Given the description of an element on the screen output the (x, y) to click on. 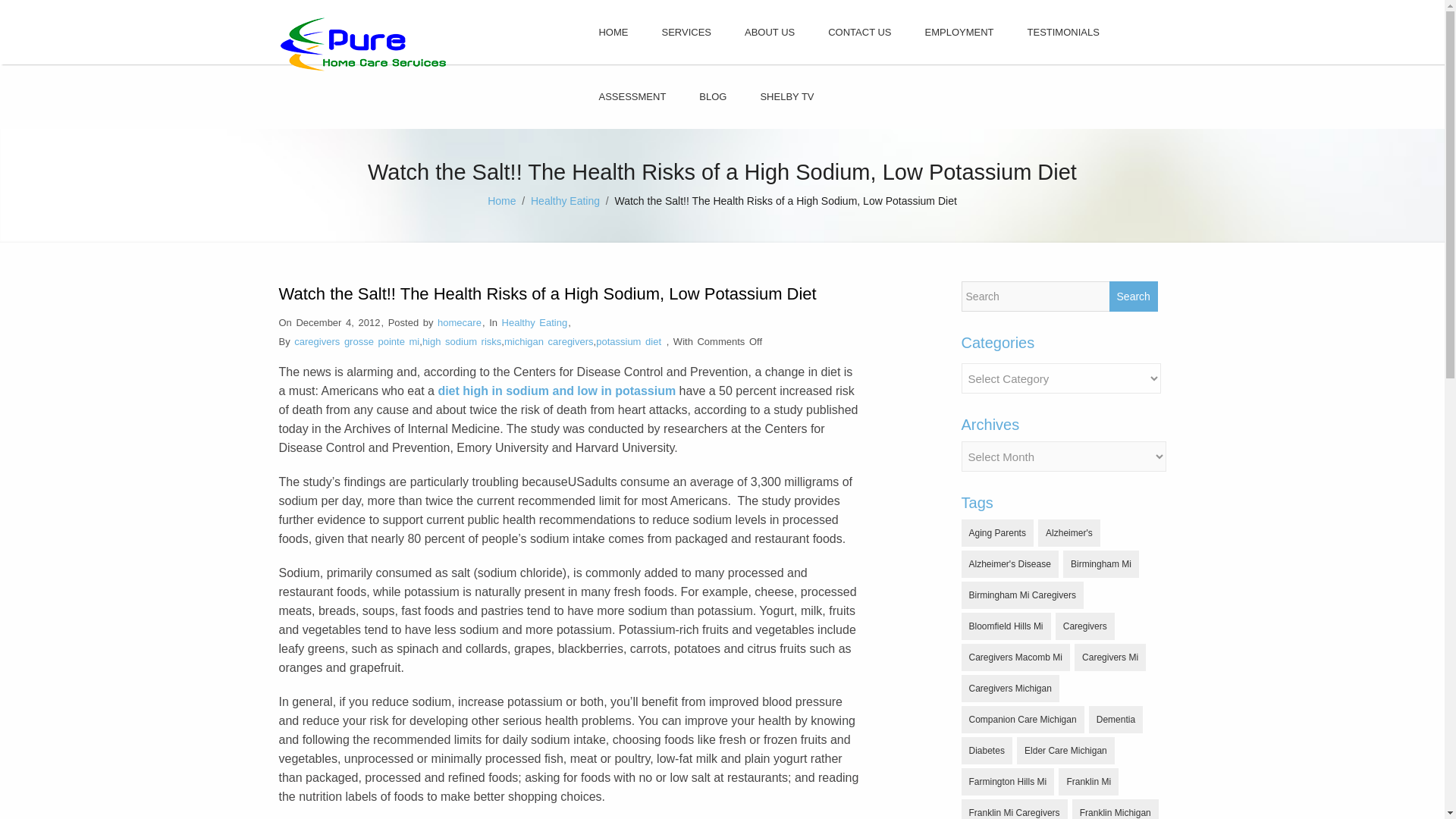
Birmingham Mi Caregivers (1021, 595)
Search (1133, 296)
Diabetes (985, 750)
Caregivers Macomb Mi (1015, 656)
Alzheimer'S Disease (1009, 564)
Aging Parents (996, 533)
TESTIMONIALS (1063, 32)
potassium diet (628, 341)
Caregivers (1085, 625)
SERVICES (686, 32)
ASSESSMENT (631, 96)
Alzheimer'S (1069, 533)
caregivers grosse pointe mi (356, 341)
